Given the description of an element on the screen output the (x, y) to click on. 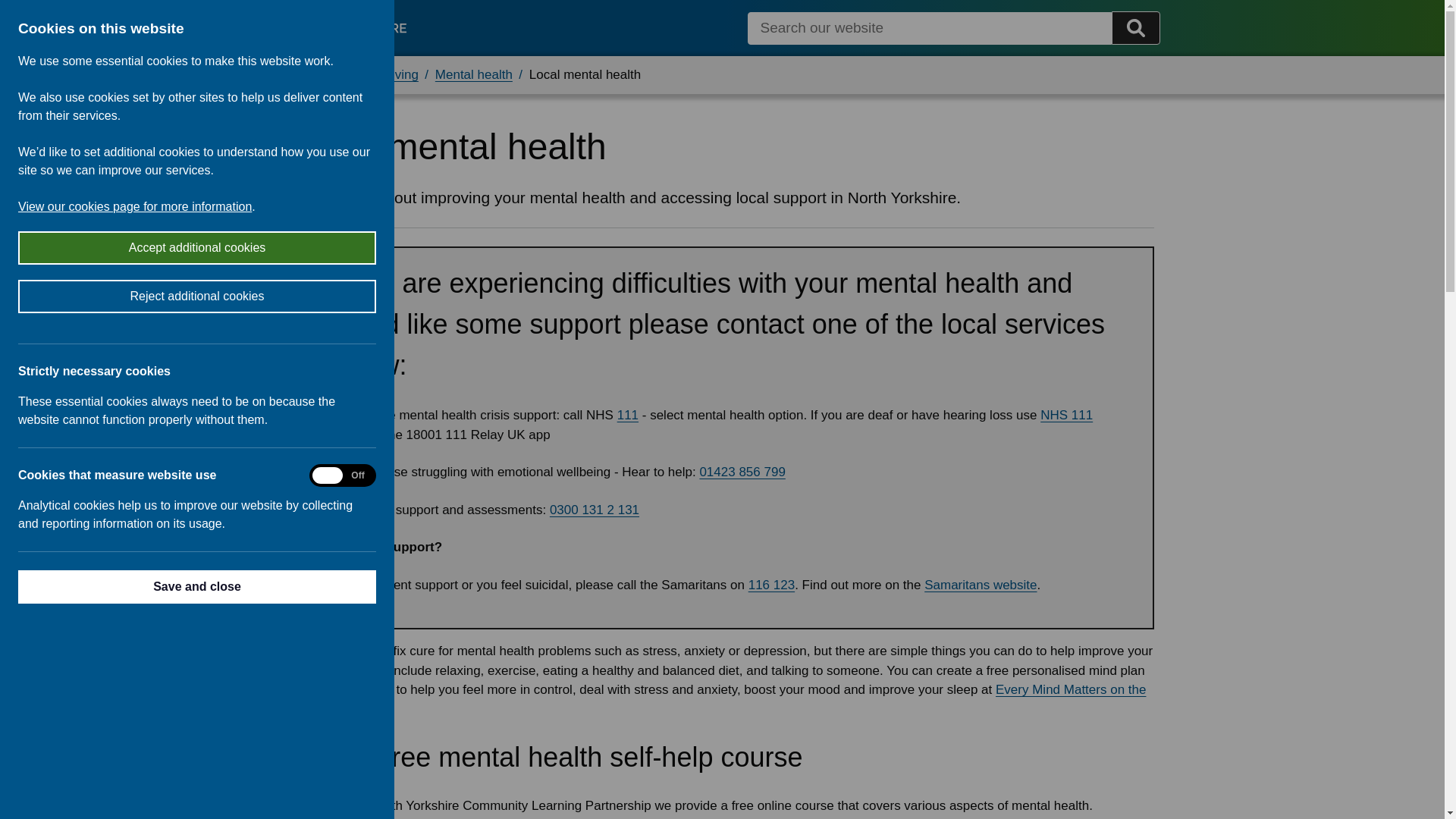
Mental health (473, 74)
0300 131 2 131 (594, 509)
Skip to main content (12, 12)
Every Mind Matters on the NHS website (719, 699)
Accept additional cookies (71, 247)
Healthy living (380, 74)
Search (1136, 28)
Save and close (117, 586)
Reject additional cookies (88, 296)
Samaritans website (980, 585)
